Given the description of an element on the screen output the (x, y) to click on. 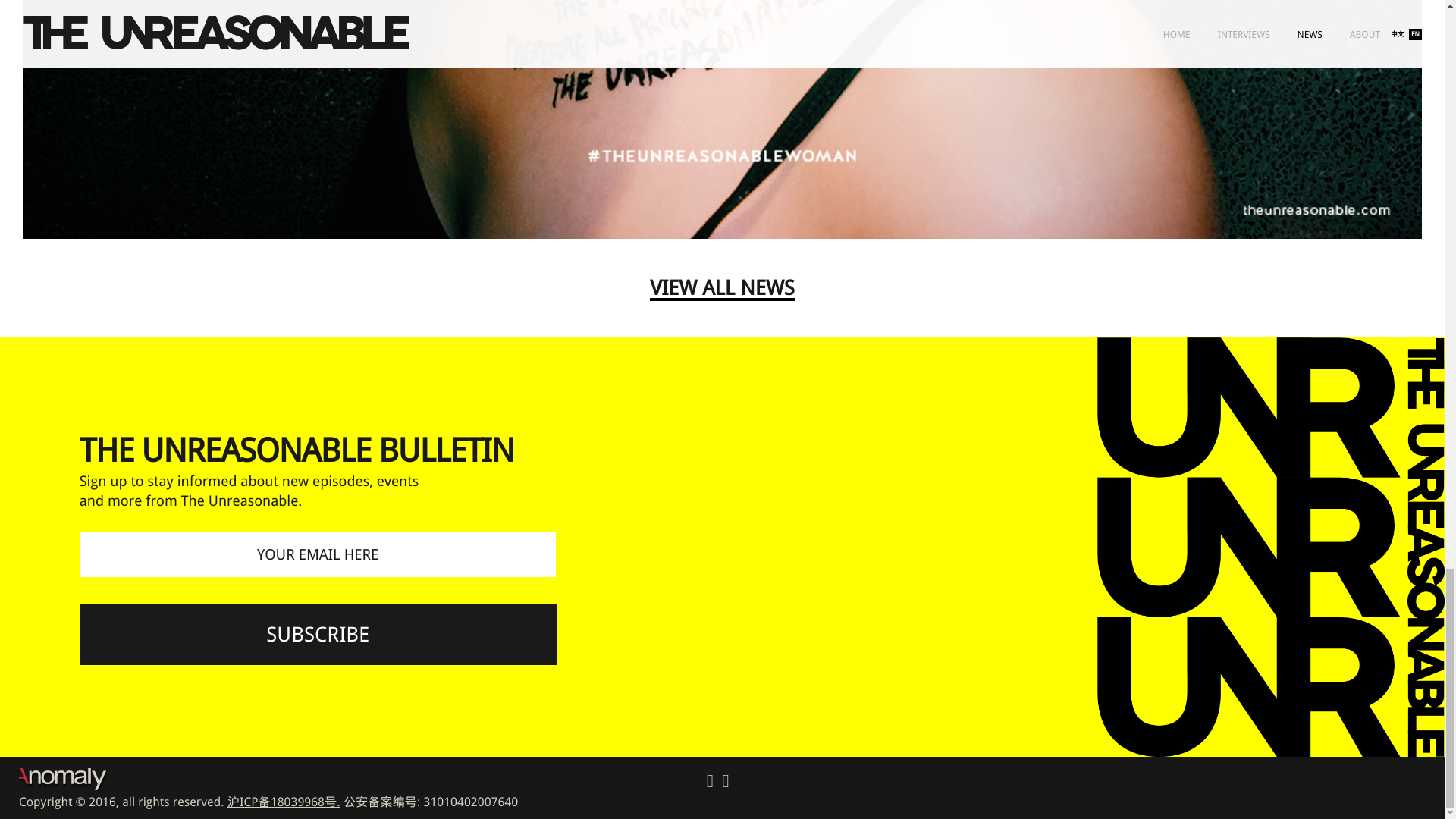
SUBSCRIBE (318, 634)
VIEW ALL NEWS (721, 289)
SUBSCRIBE (318, 634)
